Given the description of an element on the screen output the (x, y) to click on. 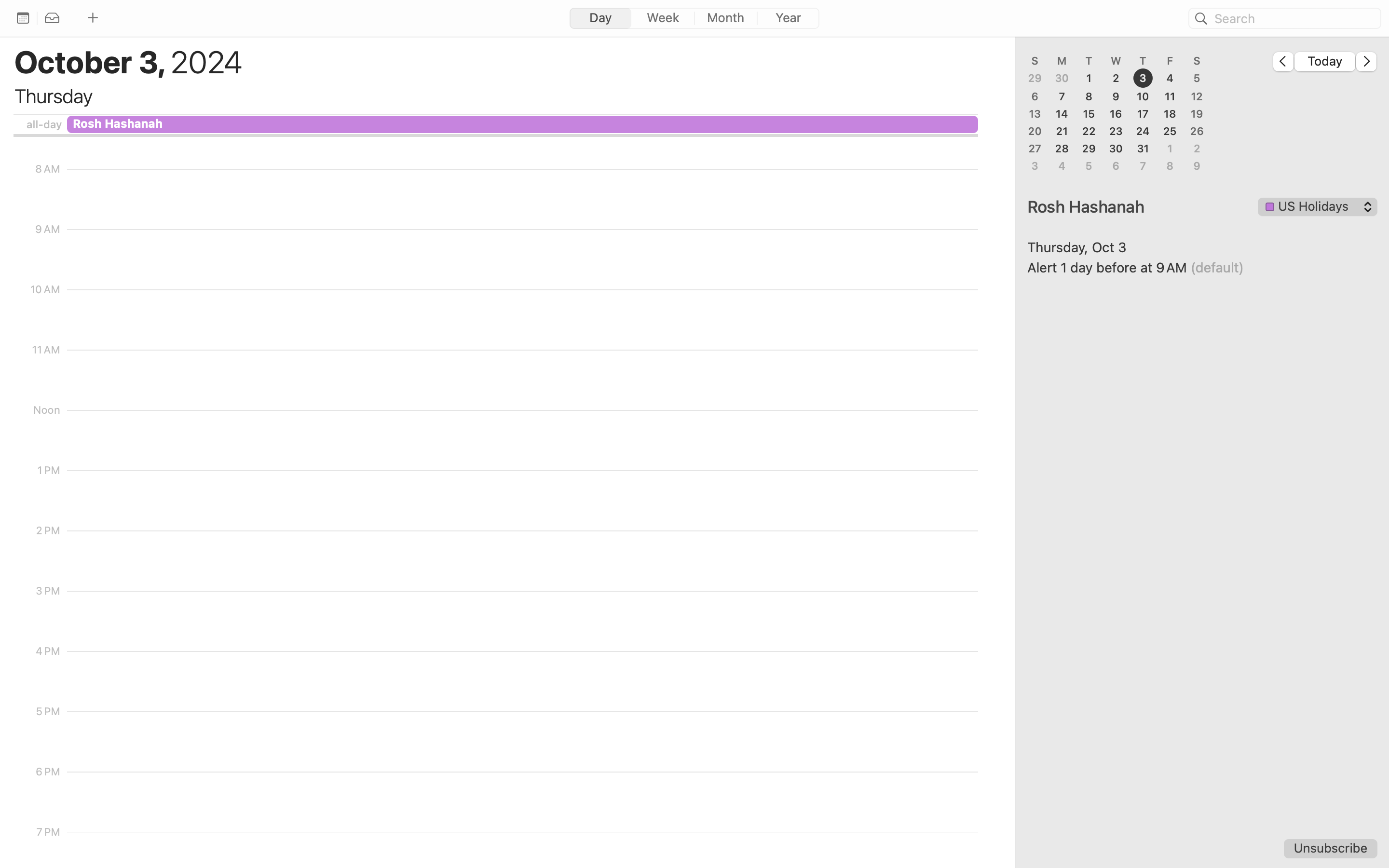
13 Element type: AXStaticText (1034, 113)
22 Element type: AXStaticText (1088, 130)
21 Element type: AXStaticText (1061, 130)
28 Element type: AXStaticText (1061, 148)
8 Element type: AXStaticText (1088, 96)
